Given the description of an element on the screen output the (x, y) to click on. 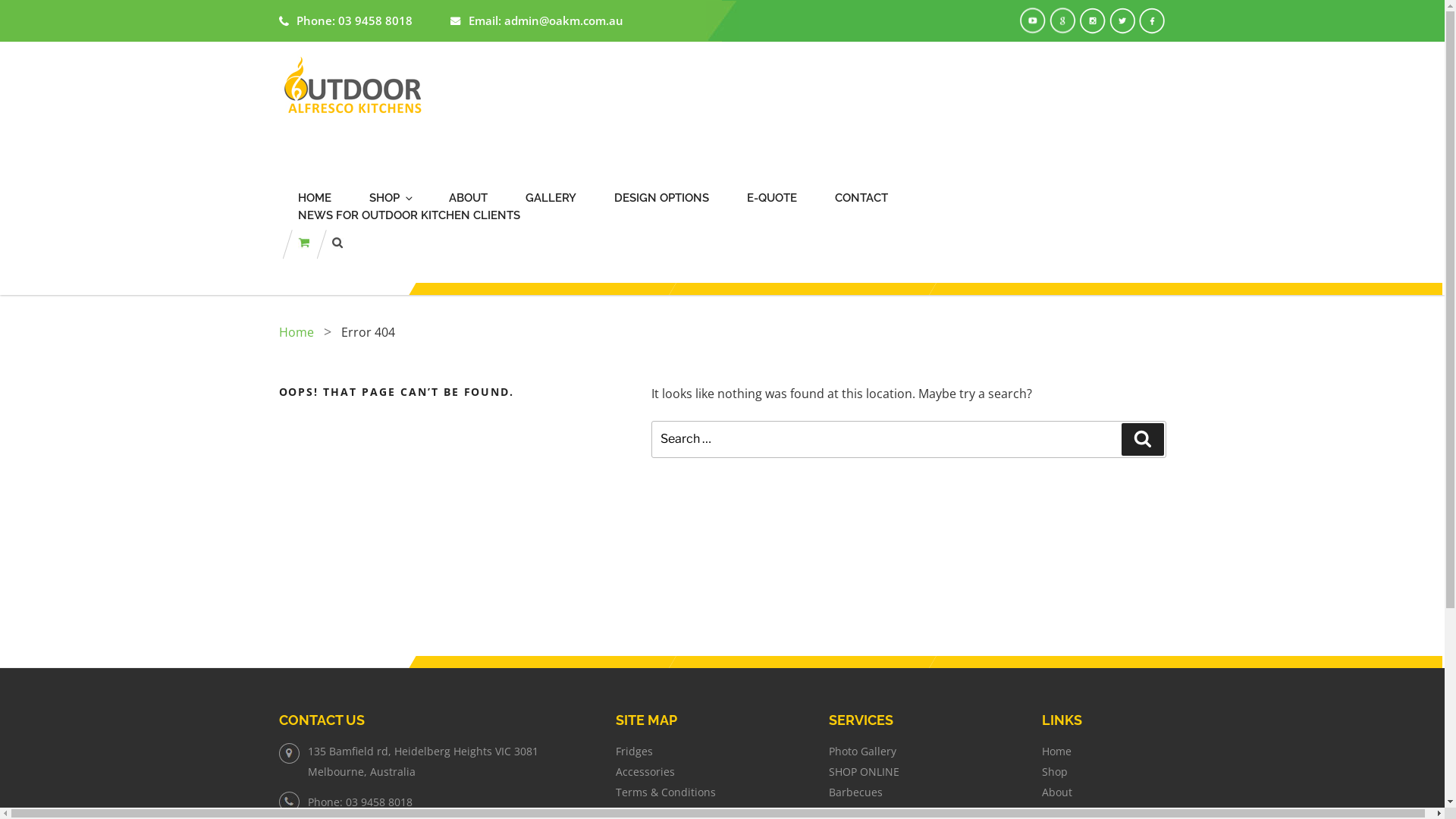
Photo Gallery Element type: text (862, 750)
NEWS FOR OUTDOOR KITCHEN CLIENTS Element type: text (408, 214)
E-QUOTE Element type: text (771, 198)
Fridges Element type: text (633, 750)
SHOP ONLINE Element type: text (863, 771)
Search Element type: text (1141, 439)
Terms & Conditions Element type: text (665, 791)
HOME Element type: text (313, 198)
About Element type: text (1056, 791)
ABOUT Element type: text (467, 198)
GALLERY Element type: text (549, 198)
CONTACT Element type: text (860, 198)
Accessories Element type: text (644, 771)
Barbecues Element type: text (855, 791)
Shop Element type: text (1054, 771)
DESIGN OPTIONS Element type: text (661, 198)
SHOP Element type: text (389, 198)
Home Element type: text (296, 331)
Home Element type: text (1056, 750)
